Given the description of an element on the screen output the (x, y) to click on. 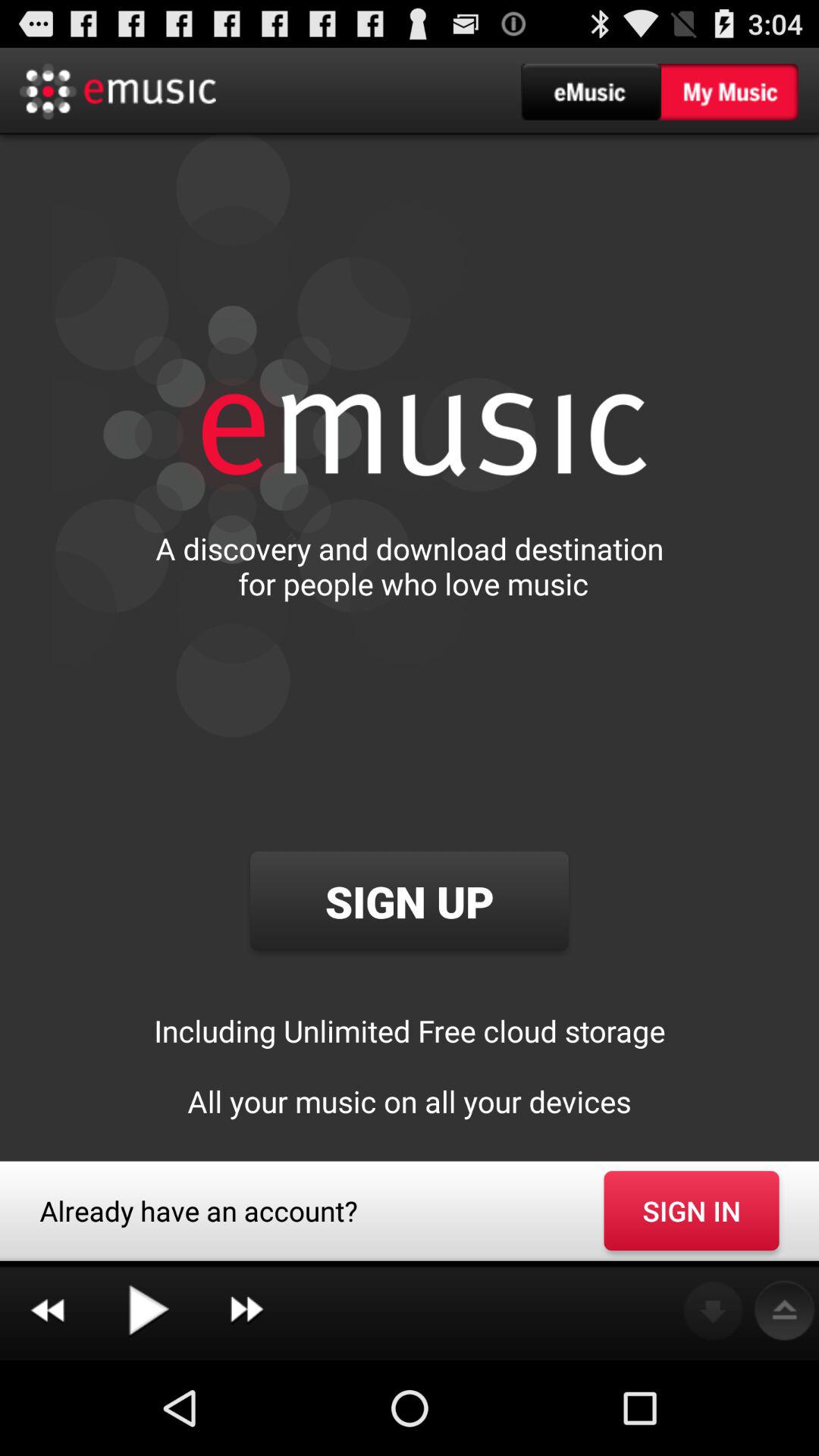
select the icon below the sign in button (784, 1311)
